Given the description of an element on the screen output the (x, y) to click on. 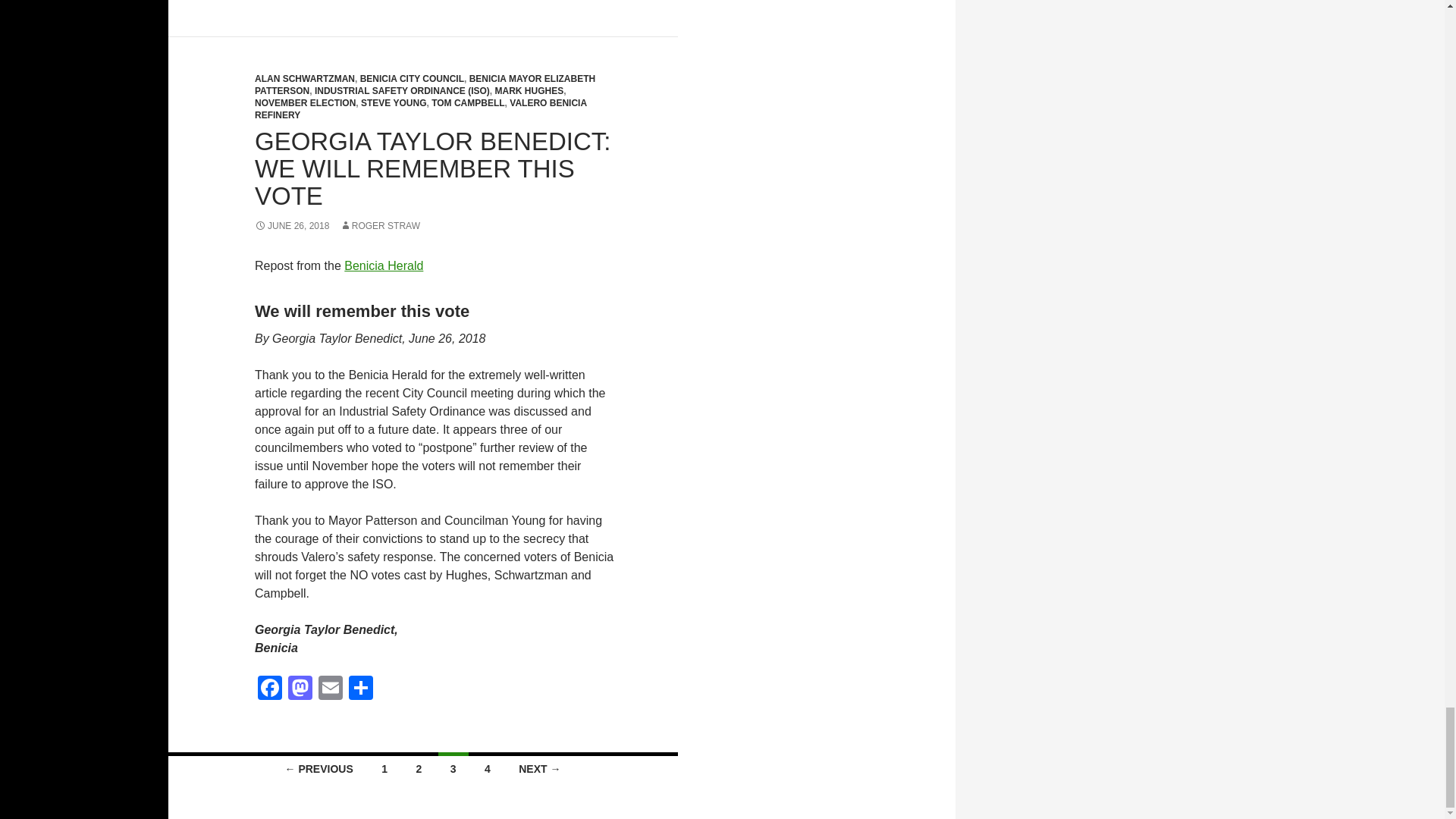
Facebook (269, 689)
Mastodon (300, 689)
Email (330, 689)
